Given the description of an element on the screen output the (x, y) to click on. 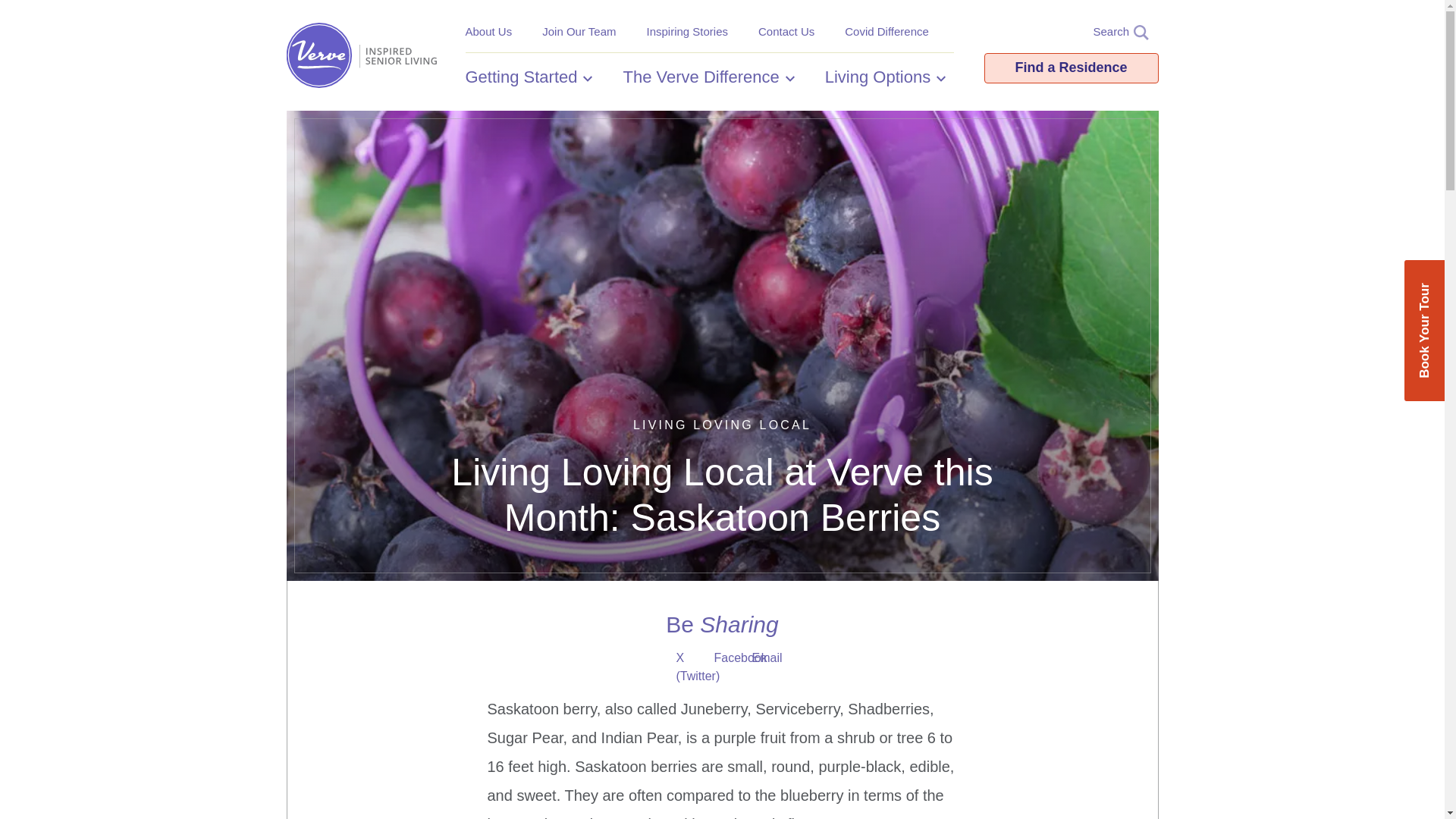
Contact Us (785, 31)
Living Options (884, 76)
The Verve Difference (708, 76)
Join Our Team (578, 31)
About Us (488, 31)
Covid Difference (886, 31)
Inspiring Stories (687, 31)
Getting Started (528, 76)
